Given the description of an element on the screen output the (x, y) to click on. 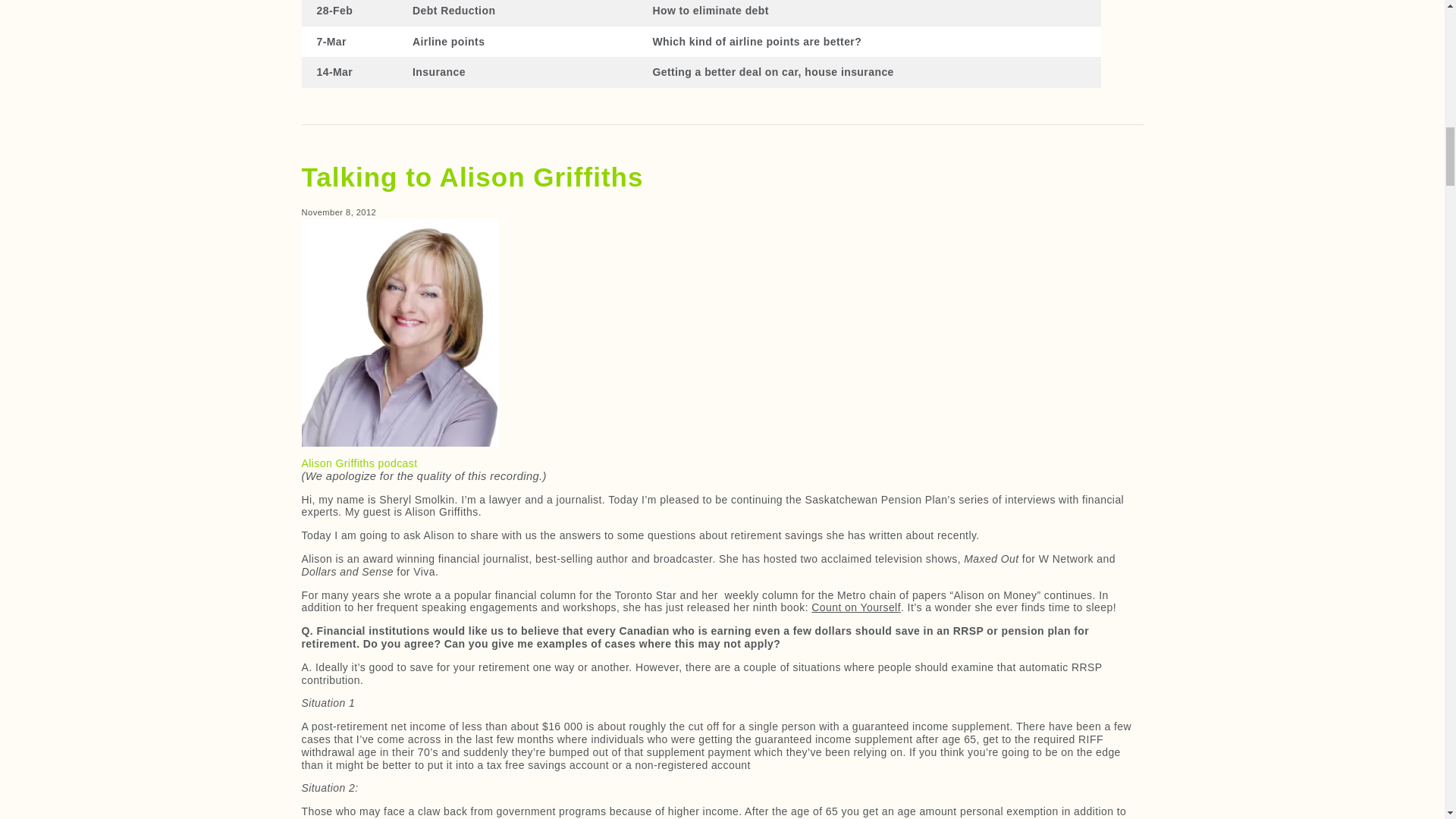
Alison Griffiths (400, 332)
